Given the description of an element on the screen output the (x, y) to click on. 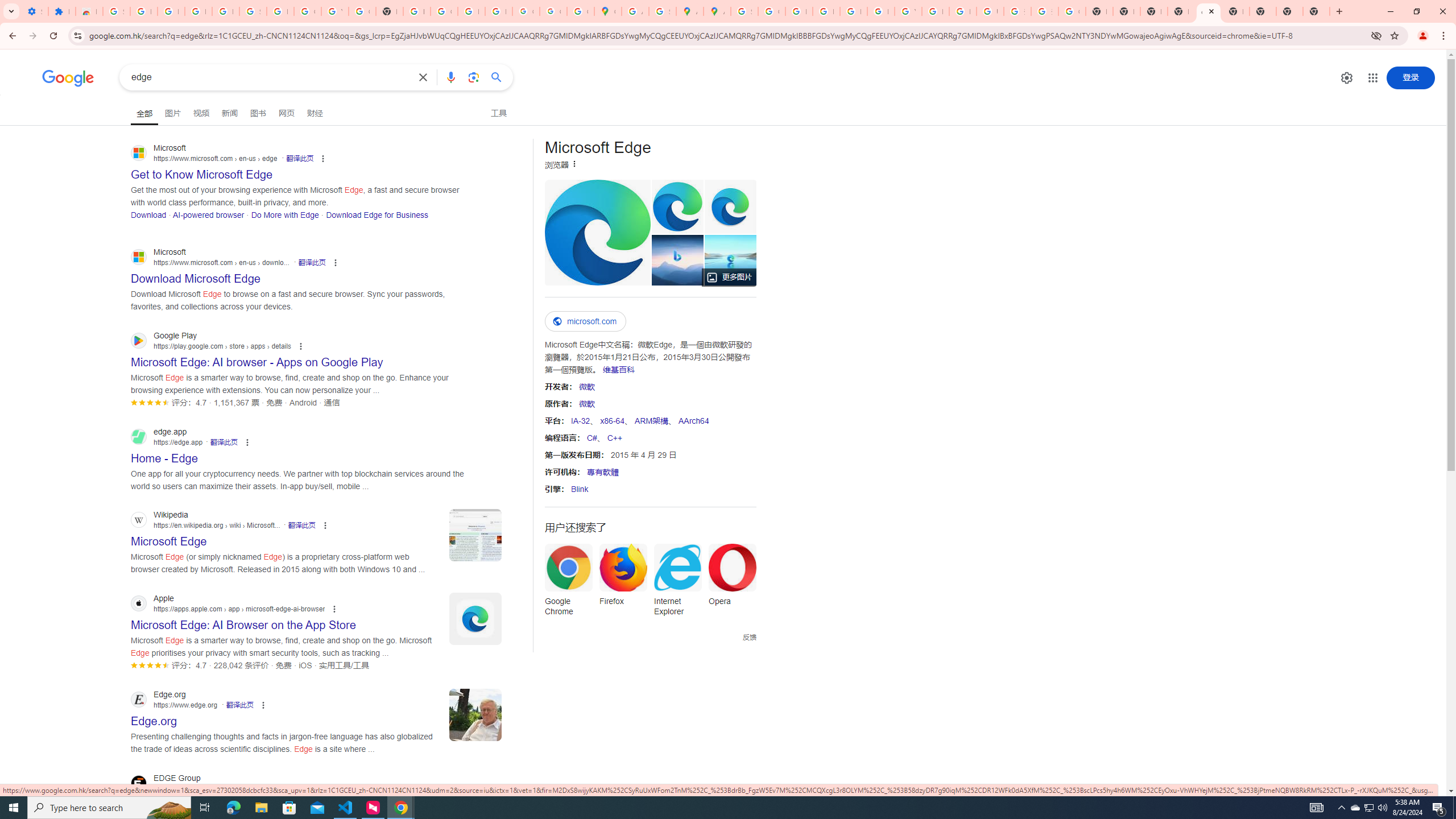
Safety in Our Products - Google Safety Center (662, 11)
Sign in - Google Accounts (253, 11)
AI-powered browser (207, 214)
New Tab (1316, 11)
 Edge.org Edge.org https://www.edge.org (154, 717)
